Given the description of an element on the screen output the (x, y) to click on. 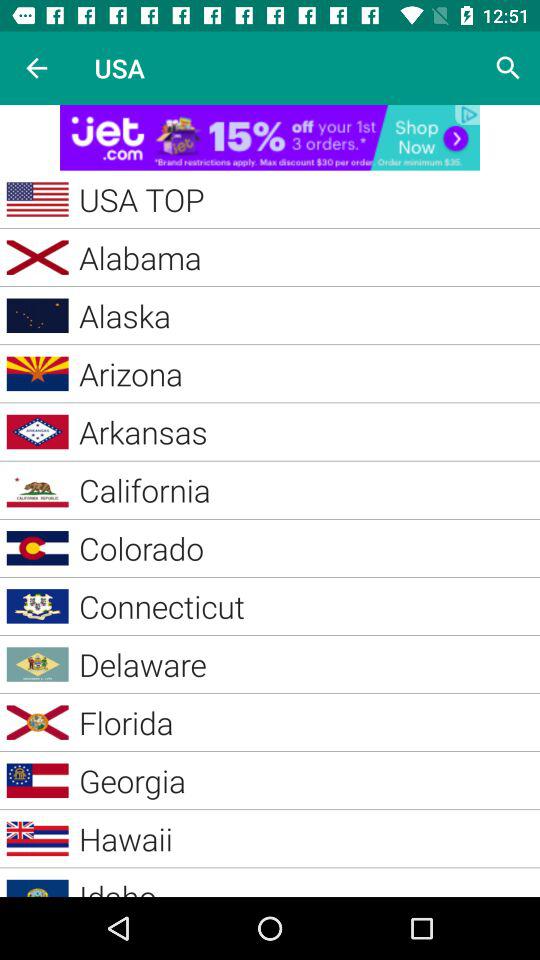
search (508, 67)
